Given the description of an element on the screen output the (x, y) to click on. 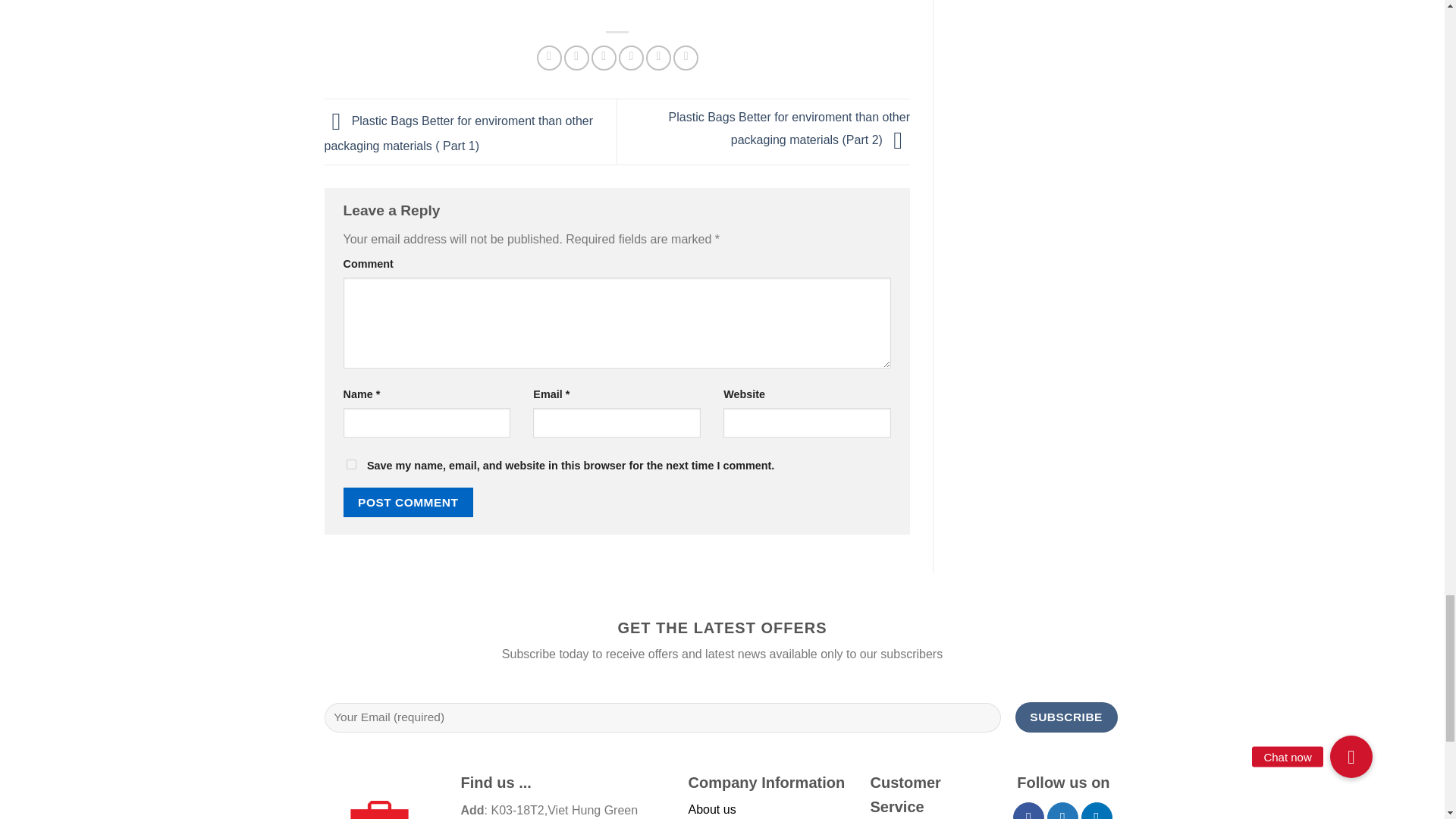
yes (350, 464)
Pin on Pinterest (630, 57)
Share on Tumblr (685, 57)
Share on Twitter (576, 57)
Email to a Friend (603, 57)
Follow on Facebook (1028, 810)
Subscribe (1066, 716)
Post Comment (407, 501)
Share on LinkedIn (658, 57)
Follow on Twitter (1062, 810)
